Given the description of an element on the screen output the (x, y) to click on. 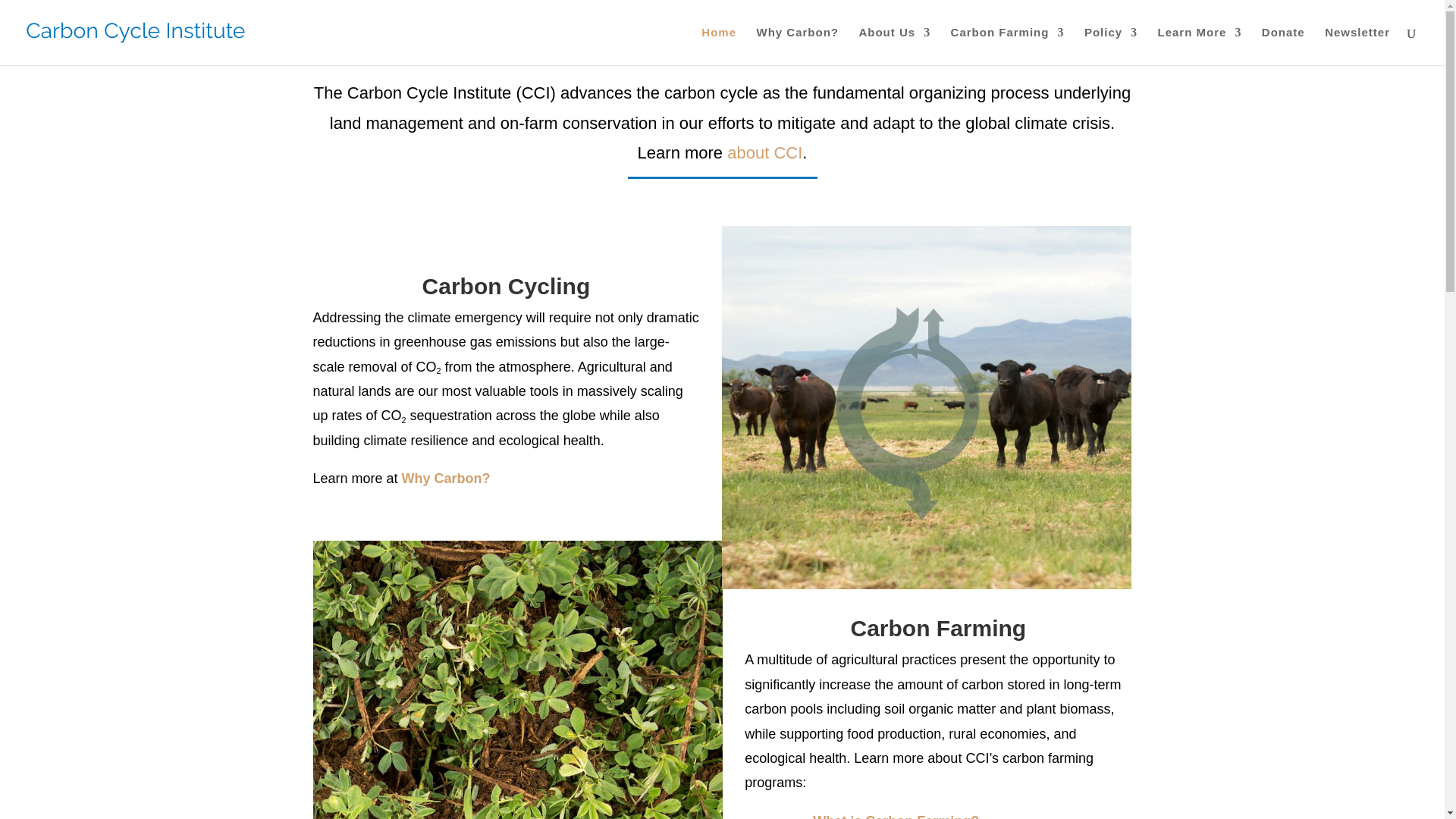
paigegreenFibershedEstil01192012-165 (517, 679)
Newsletter (1357, 46)
Donate (1283, 46)
Carbon Farming (1007, 46)
Why Carbon? (798, 46)
Policy (1110, 46)
Learn More (1199, 46)
Home (718, 46)
About Us (894, 46)
